Given the description of an element on the screen output the (x, y) to click on. 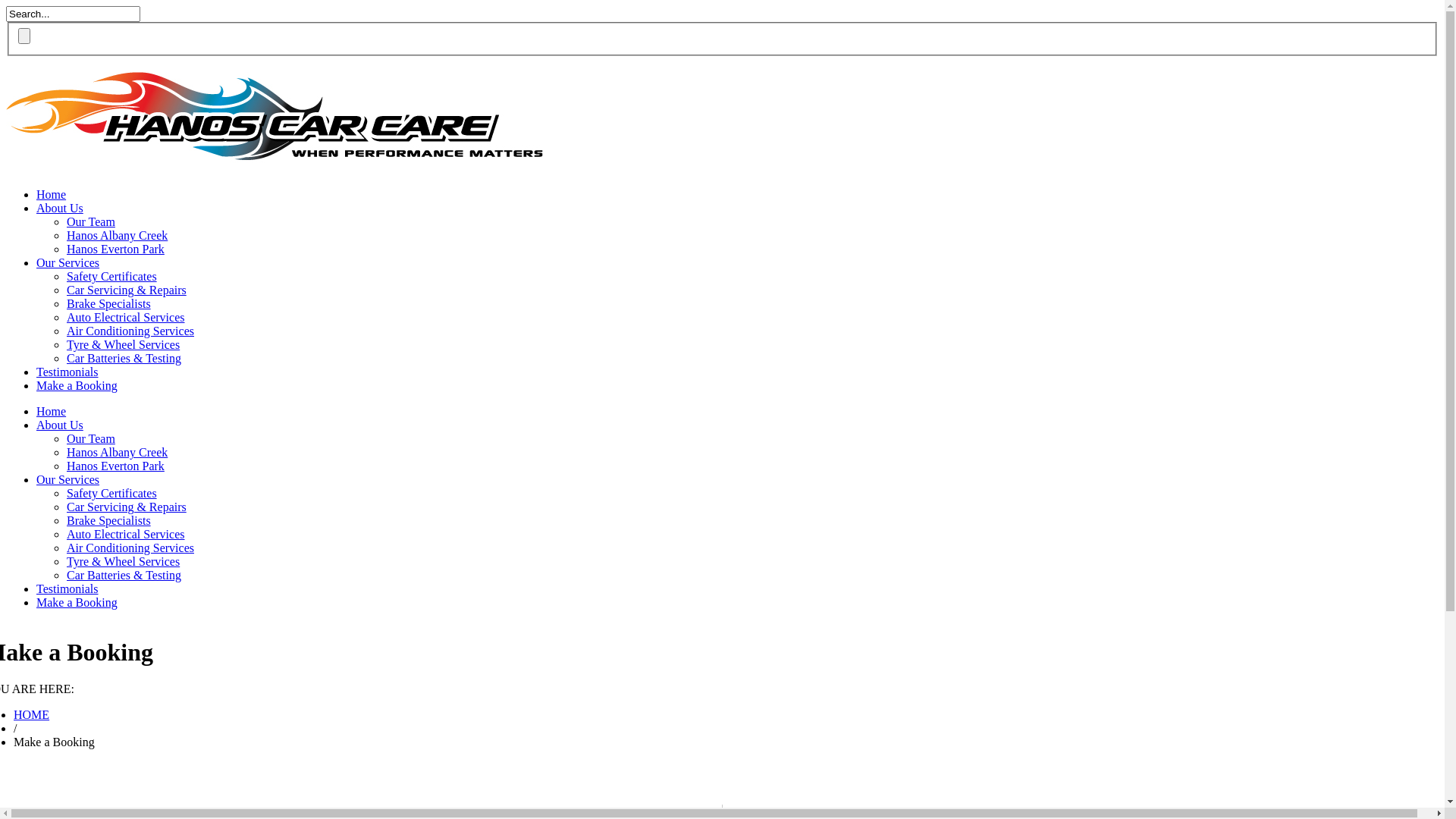
Tyre & Wheel Services Element type: text (122, 344)
Hanos Car Care Element type: hover (274, 157)
Auto Electrical Services Element type: text (125, 316)
Testimonials Element type: text (67, 371)
Hanos Everton Park Element type: text (115, 248)
Hanos Albany Creek Element type: text (116, 451)
About Us Element type: text (59, 424)
Brake Specialists Element type: text (108, 520)
Home Element type: text (50, 410)
Make a Booking Element type: text (76, 385)
HOME Element type: text (31, 714)
Home Element type: text (50, 194)
Our Services Element type: text (67, 262)
Testimonials Element type: text (67, 588)
Hanos Everton Park Element type: text (115, 465)
About Us Element type: text (59, 207)
Safety Certificates Element type: text (111, 275)
Our Services Element type: text (67, 479)
Car Batteries & Testing Element type: text (123, 357)
Car Batteries & Testing Element type: text (123, 574)
Make a Booking Element type: text (76, 602)
Safety Certificates Element type: text (111, 492)
Brake Specialists Element type: text (108, 303)
Air Conditioning Services Element type: text (130, 547)
Car Servicing & Repairs Element type: text (126, 289)
Car Servicing & Repairs Element type: text (126, 506)
Tyre & Wheel Services Element type: text (122, 561)
Air Conditioning Services Element type: text (130, 330)
Auto Electrical Services Element type: text (125, 533)
Hanos Albany Creek Element type: text (116, 235)
Our Team Element type: text (90, 221)
Our Team Element type: text (90, 438)
